Given the description of an element on the screen output the (x, y) to click on. 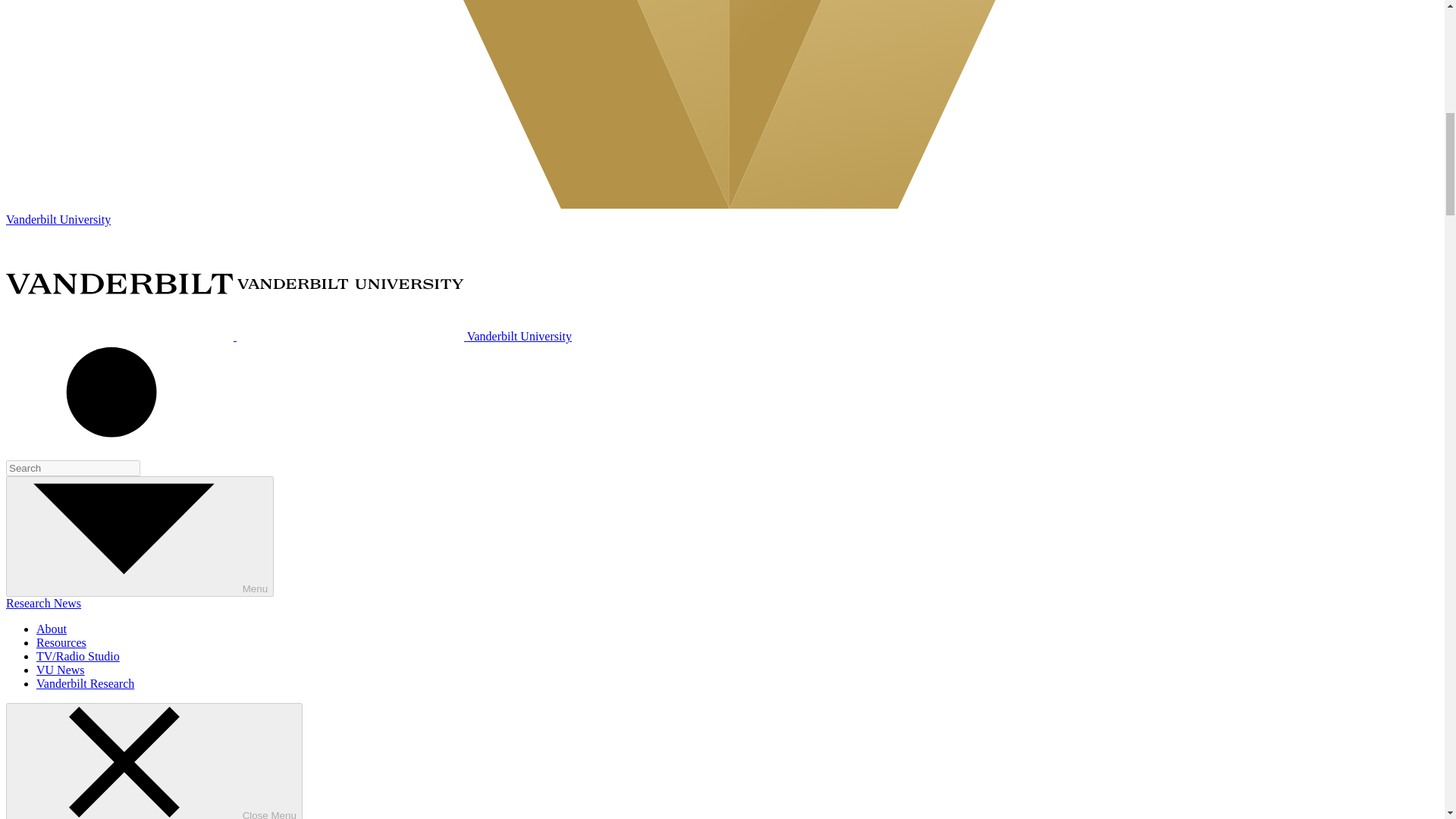
Resources (60, 642)
Menu (139, 536)
About (51, 628)
VU News (60, 669)
Vanderbilt University (288, 336)
Vanderbilt Research (84, 683)
Research News (43, 603)
Close Menu (153, 760)
